Given the description of an element on the screen output the (x, y) to click on. 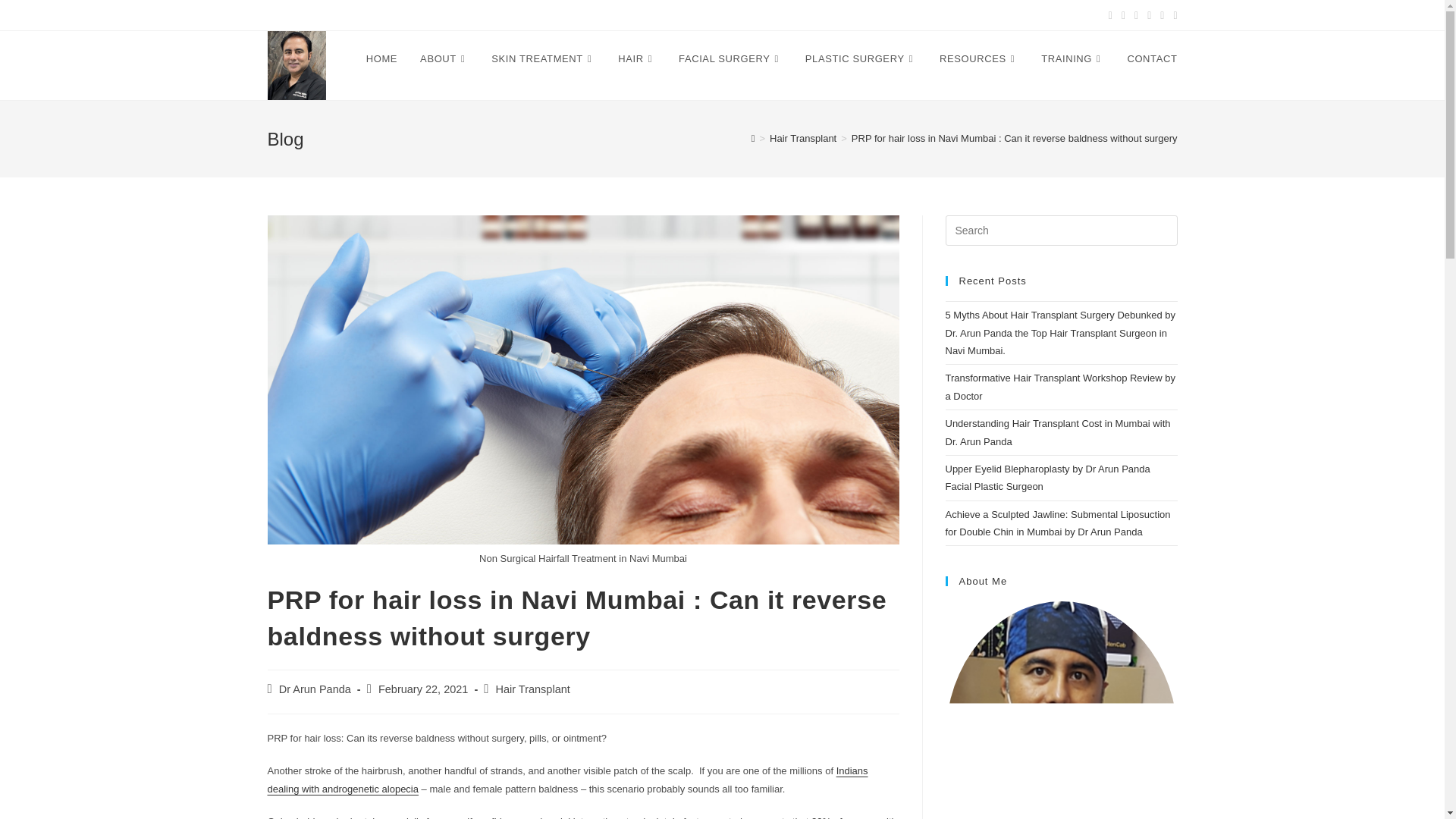
SKIN TREATMENT (543, 58)
ABOUT (444, 58)
FACIAL SURGERY (729, 58)
HOME (382, 58)
HAIR (636, 58)
Posts by Dr Arun Panda (314, 689)
